Given the description of an element on the screen output the (x, y) to click on. 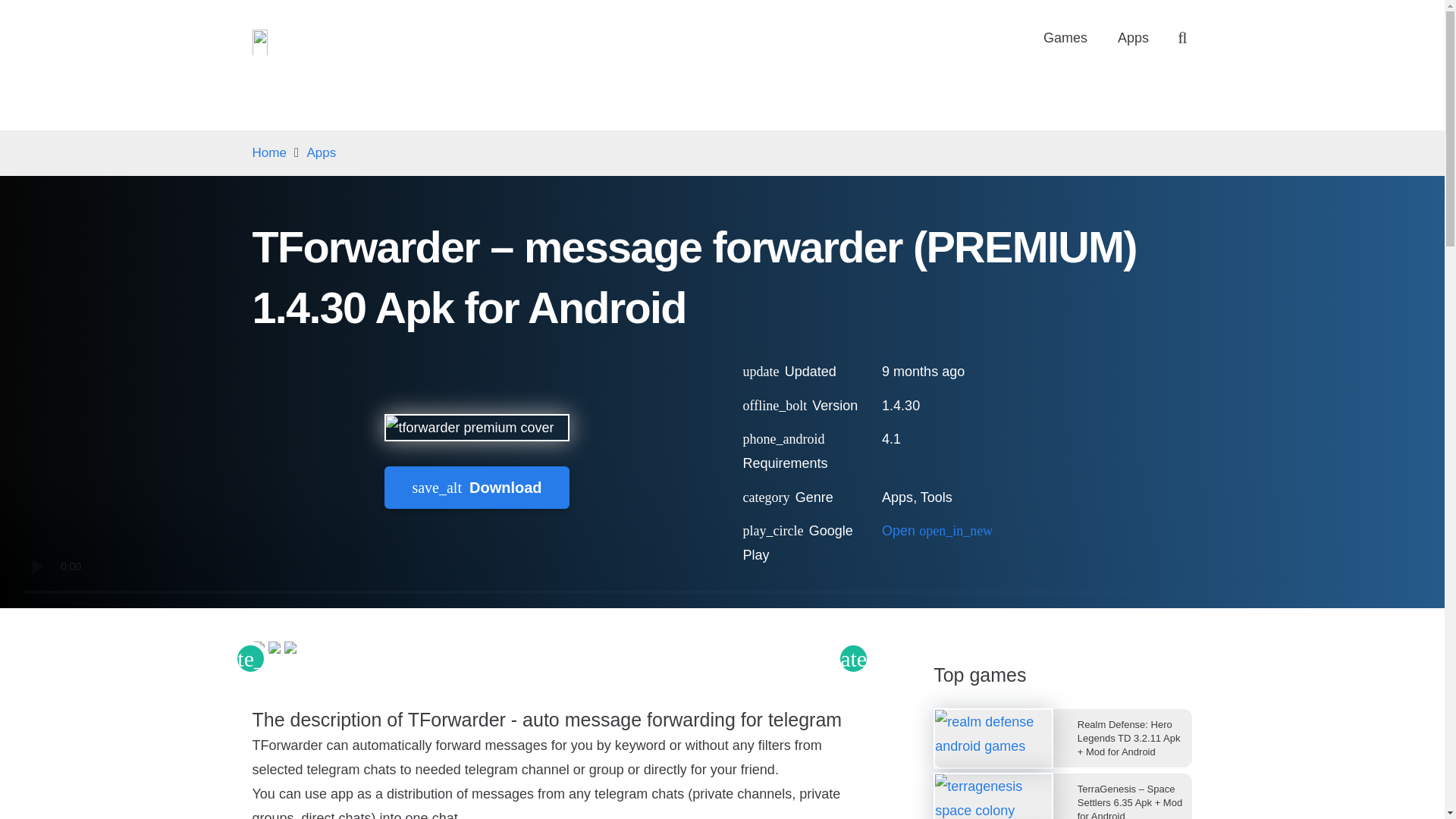
Games (1064, 38)
